Given the description of an element on the screen output the (x, y) to click on. 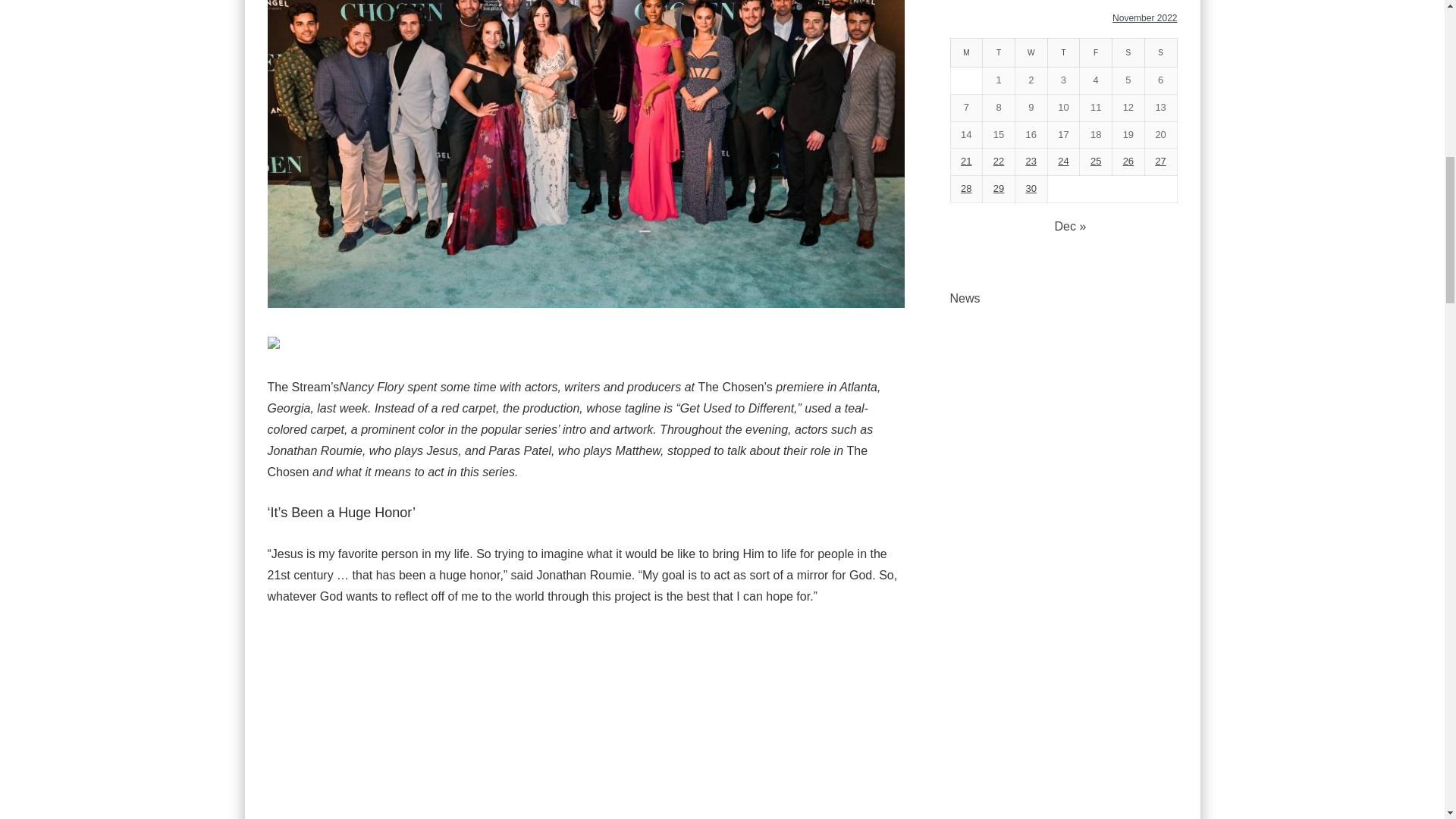
Thursday (1063, 52)
Saturday (1128, 52)
Sunday (1160, 52)
28 (965, 188)
23 (1031, 161)
26 (1128, 161)
Tuesday (998, 52)
21 (965, 161)
Wednesday (1030, 52)
Friday (1096, 52)
